Given the description of an element on the screen output the (x, y) to click on. 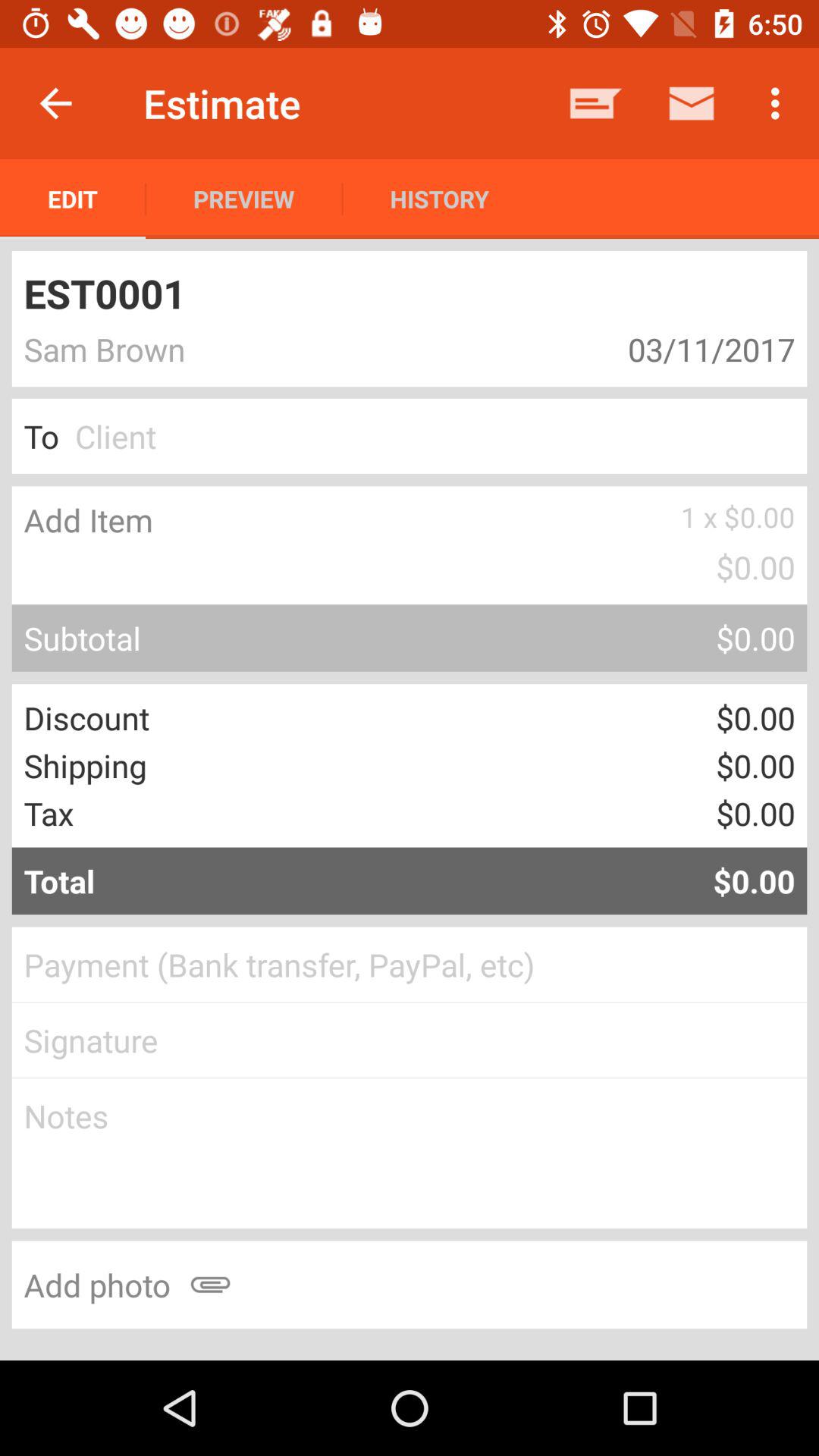
launch item next to the estimate item (55, 103)
